Given the description of an element on the screen output the (x, y) to click on. 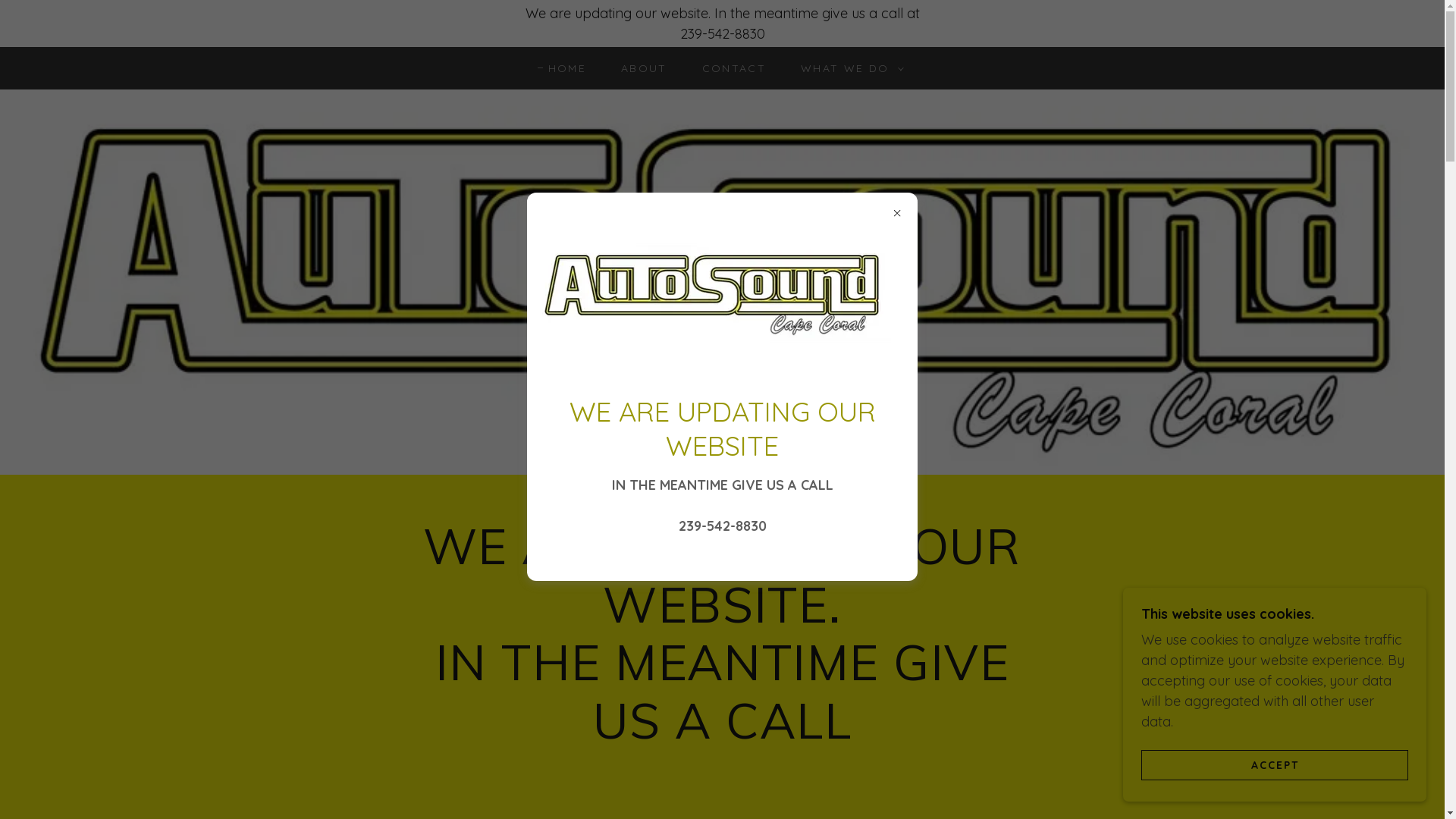
CONTACT Element type: text (728, 67)
ABOUT Element type: text (638, 67)
WHAT WE DO Element type: text (848, 68)
ACCEPT Element type: text (1274, 764)
HOME Element type: text (561, 68)
